Given the description of an element on the screen output the (x, y) to click on. 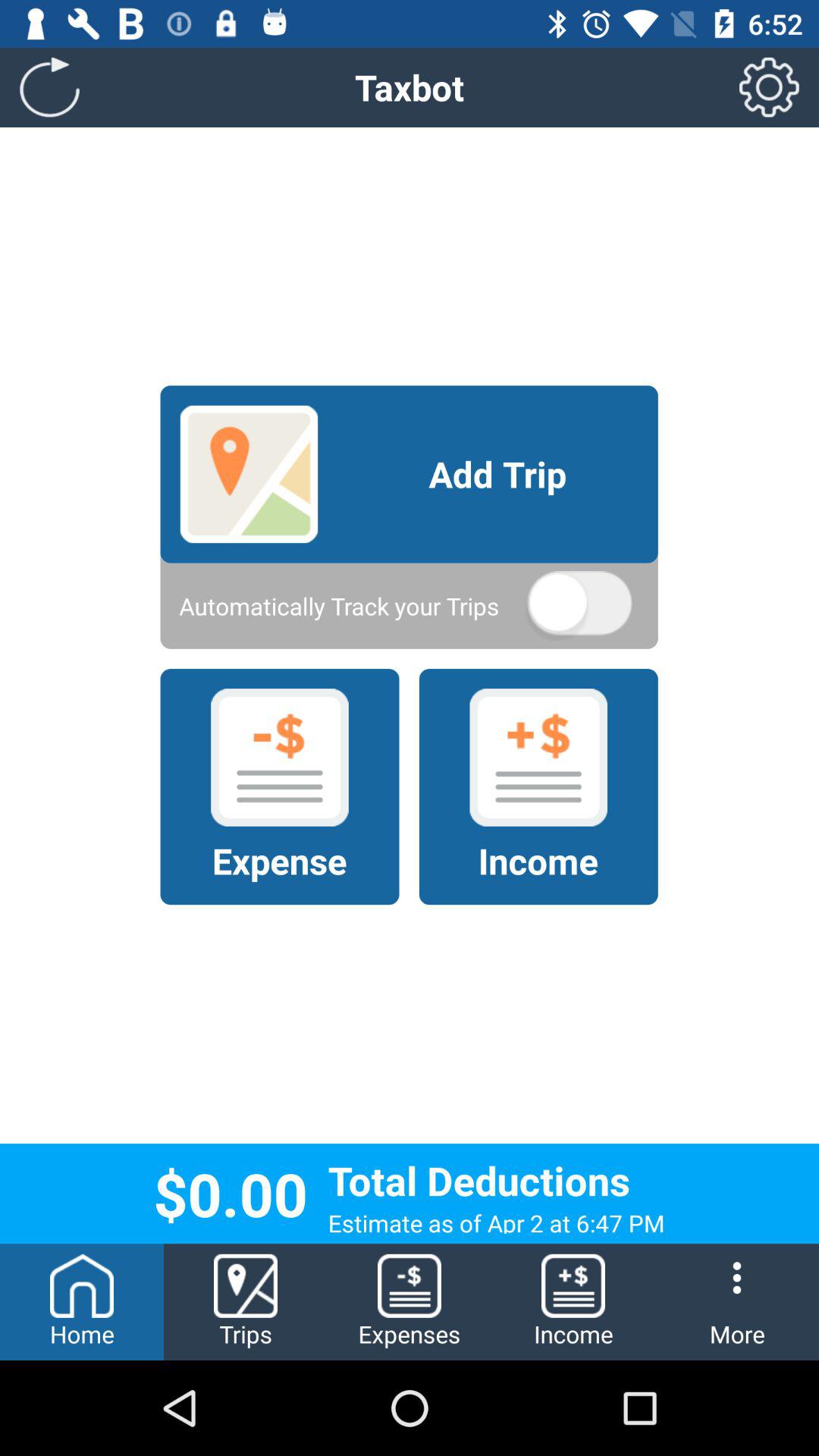
press icon on the right (578, 605)
